Given the description of an element on the screen output the (x, y) to click on. 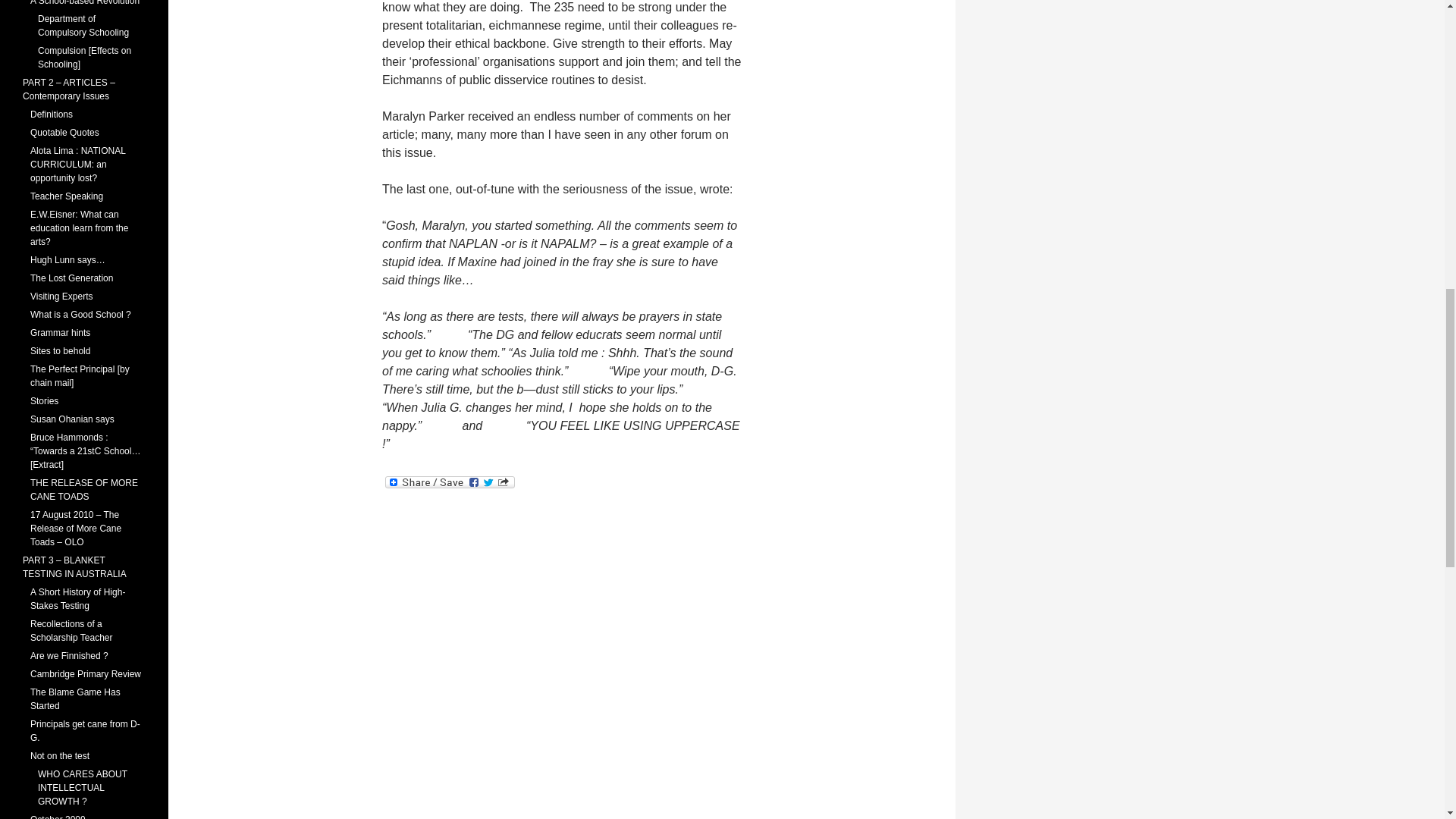
Alota Lima : NATIONAL CURRICULUM: an opportunity lost? (77, 164)
A School-based Revolution (84, 2)
Definitions (51, 113)
Department of Compulsory Schooling (83, 25)
Quotable Quotes (64, 132)
